Given the description of an element on the screen output the (x, y) to click on. 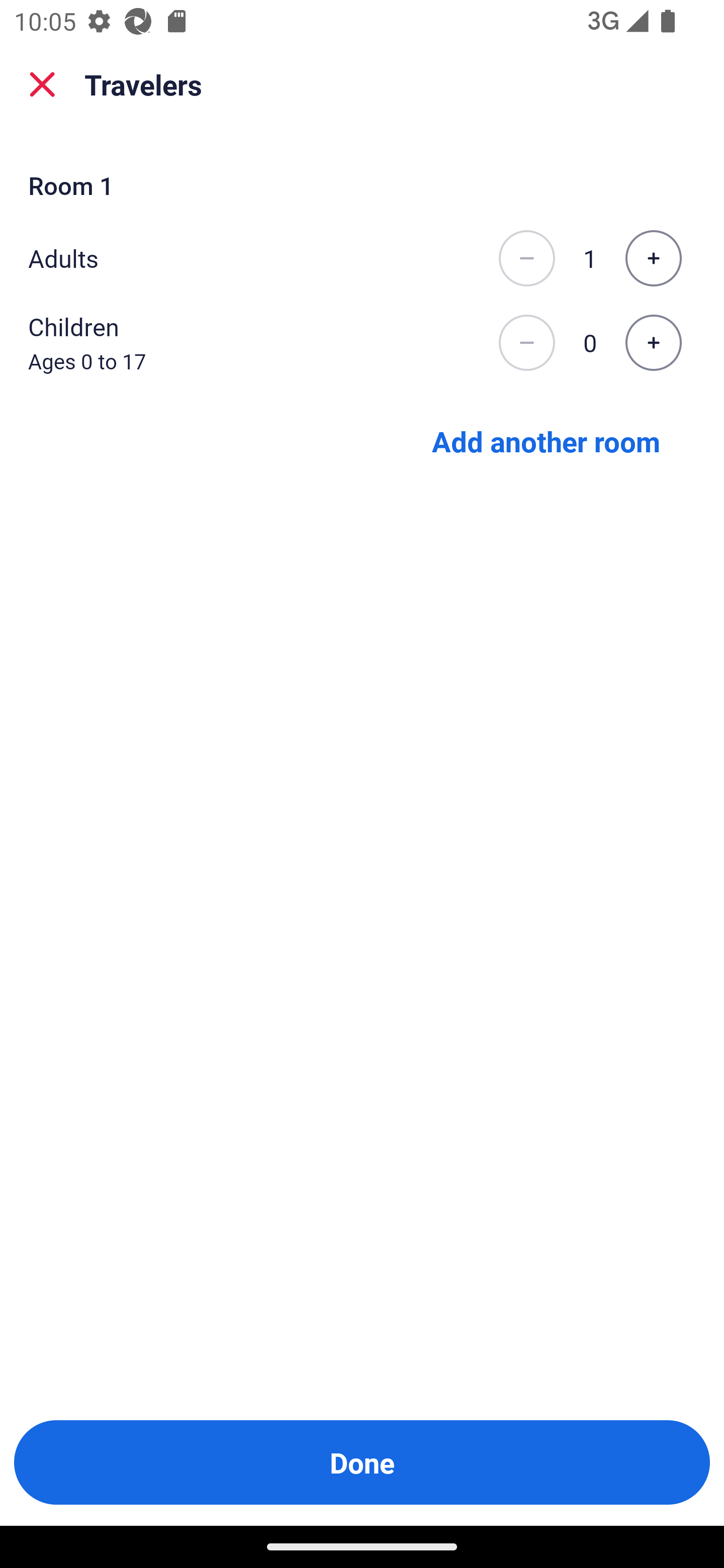
close (42, 84)
Decrease the number of adults (526, 258)
Increase the number of adults (653, 258)
Decrease the number of children (526, 343)
Increase the number of children (653, 343)
Add another room (545, 440)
Done (361, 1462)
